Given the description of an element on the screen output the (x, y) to click on. 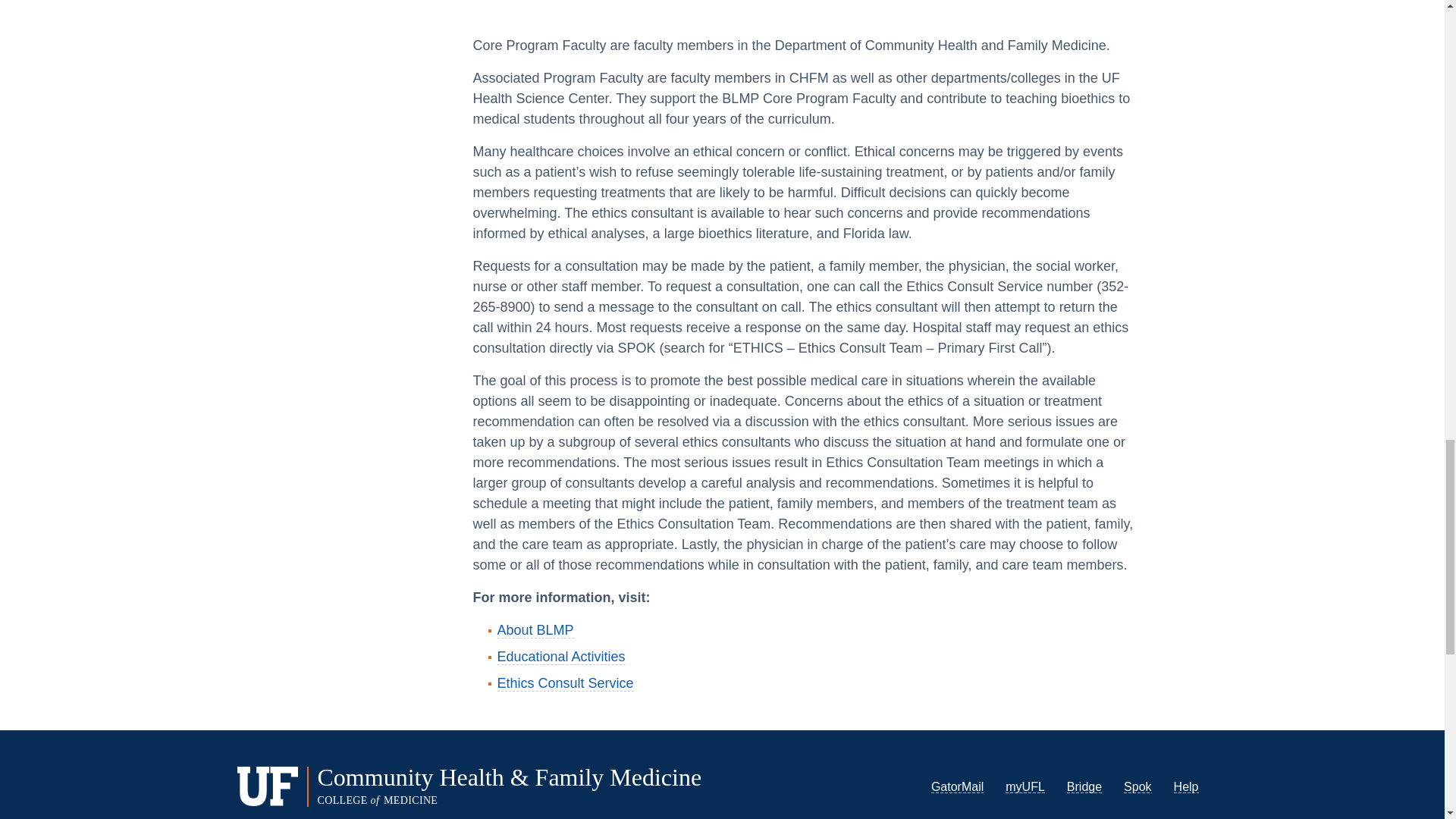
Bridge (1084, 786)
Spok (1137, 786)
Help (1185, 786)
GatorMail (957, 786)
myUFL (1025, 786)
